Given the description of an element on the screen output the (x, y) to click on. 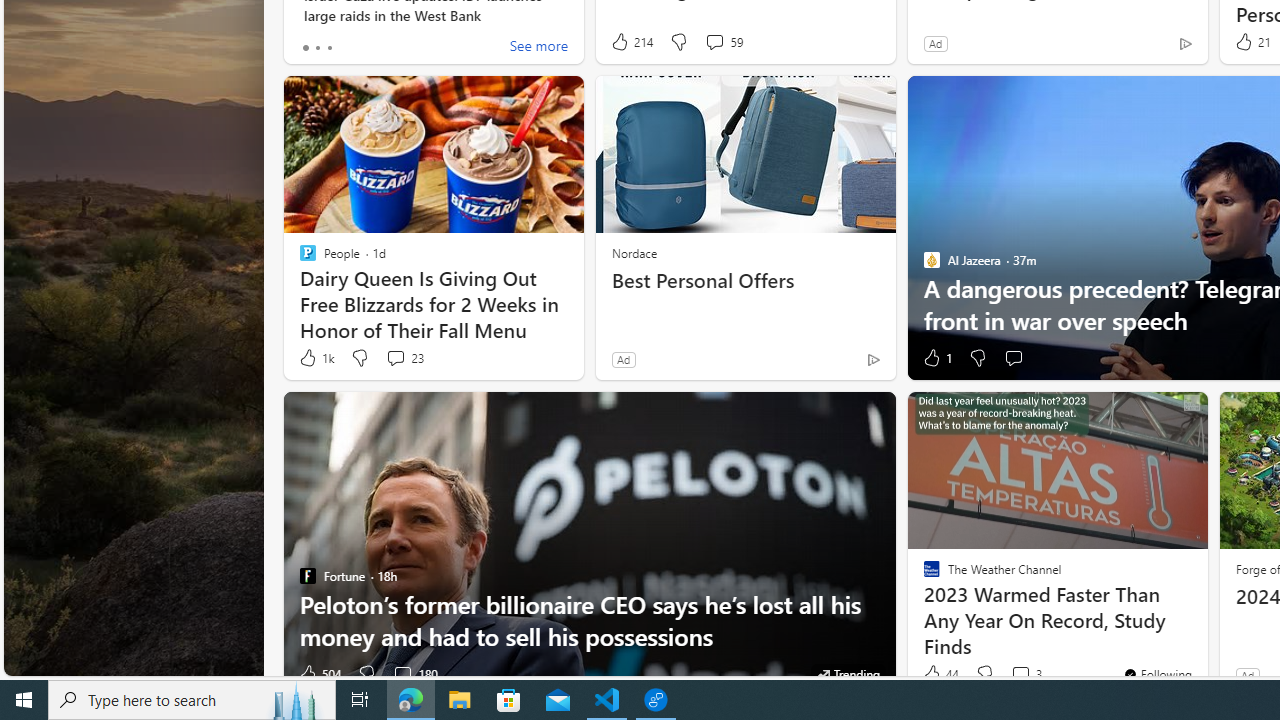
View comments 23 Comment (395, 357)
View comments 59 Comment (723, 42)
View comments 3 Comment (1025, 674)
tab-2 (328, 47)
44 Like (939, 674)
214 Like (630, 42)
1 Like (936, 358)
21 Like (1251, 42)
View comments 3 Comment (1019, 673)
